Given the description of an element on the screen output the (x, y) to click on. 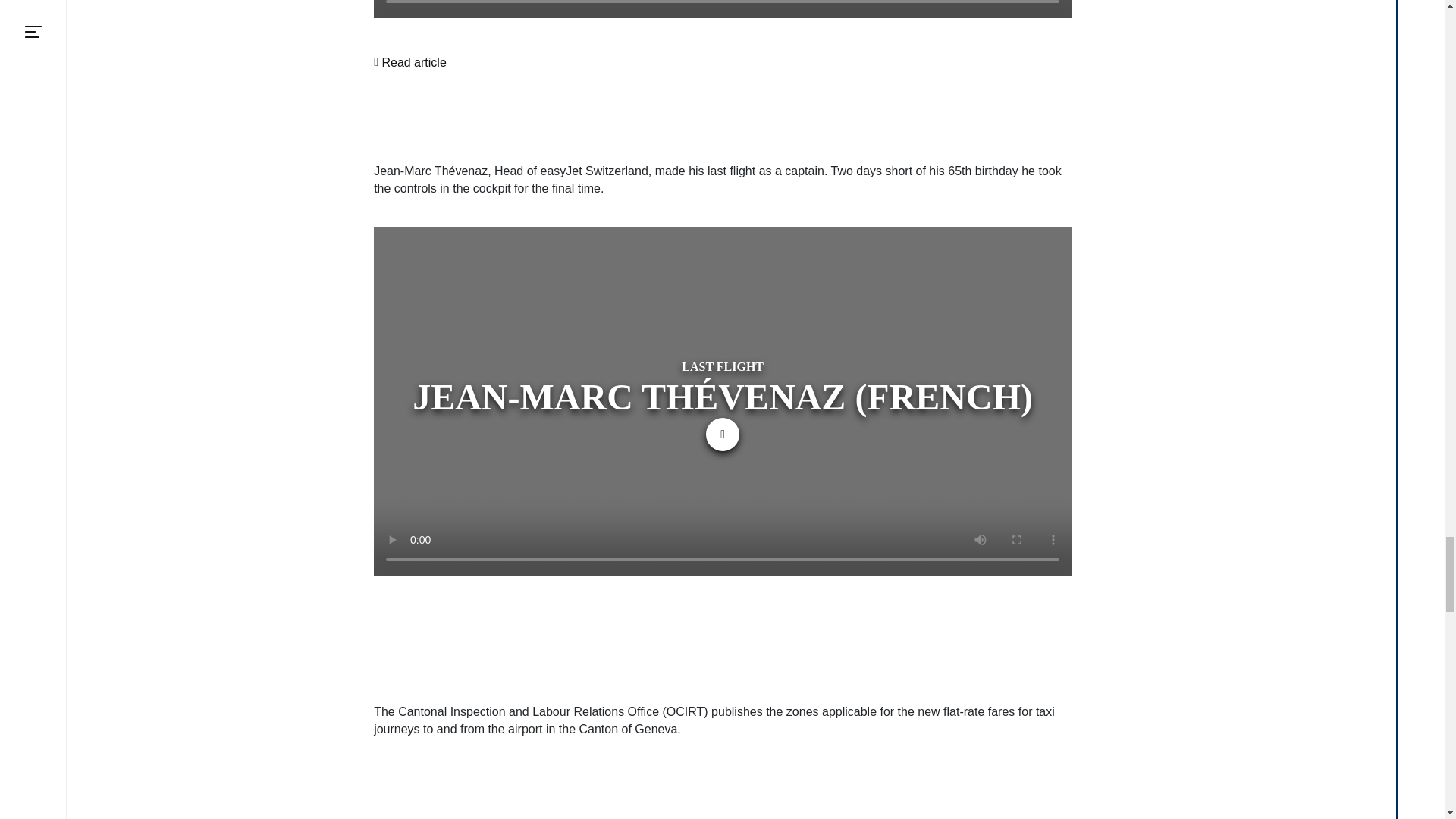
Read article (413, 62)
